Given the description of an element on the screen output the (x, y) to click on. 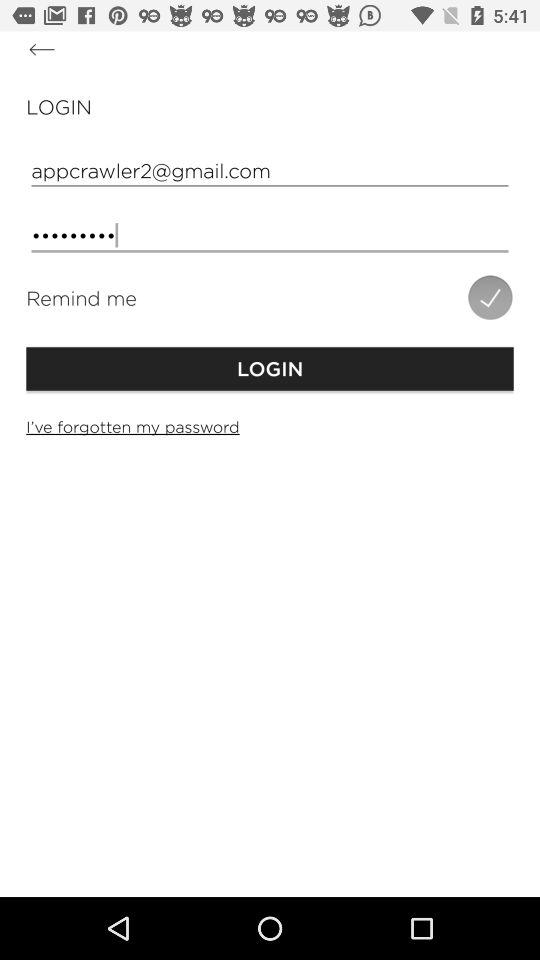
open the icon to the right of remind me item (490, 297)
